Given the description of an element on the screen output the (x, y) to click on. 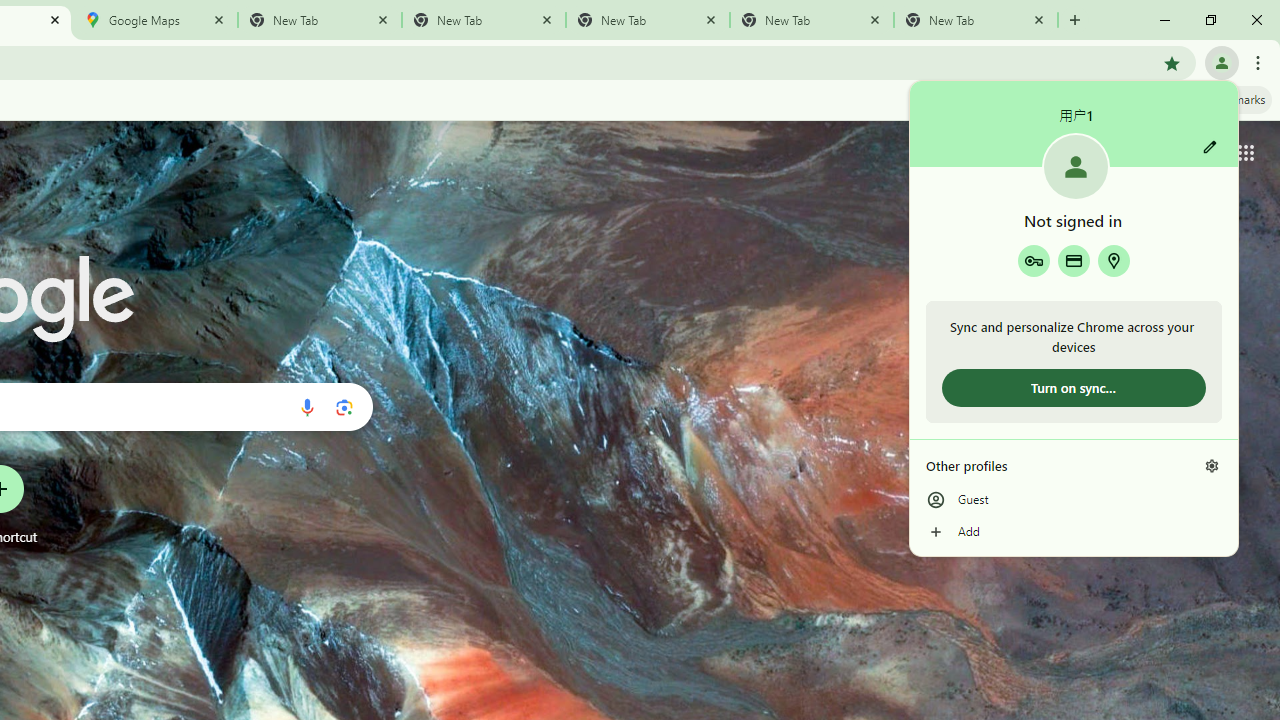
Payment methods (1074, 260)
Add (1073, 531)
